Given the description of an element on the screen output the (x, y) to click on. 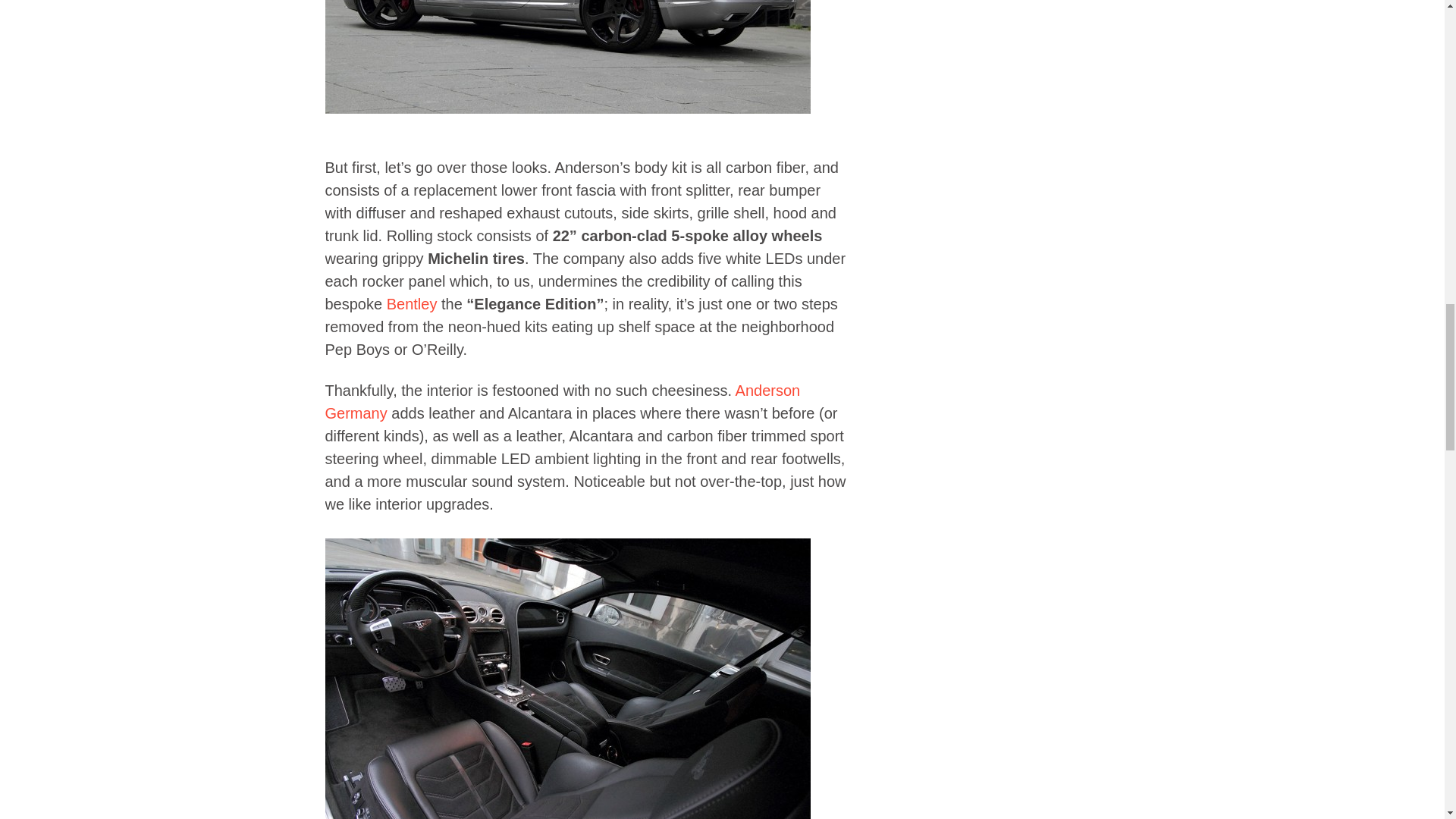
Anderson Germany (561, 401)
Bentley (412, 303)
